Given the description of an element on the screen output the (x, y) to click on. 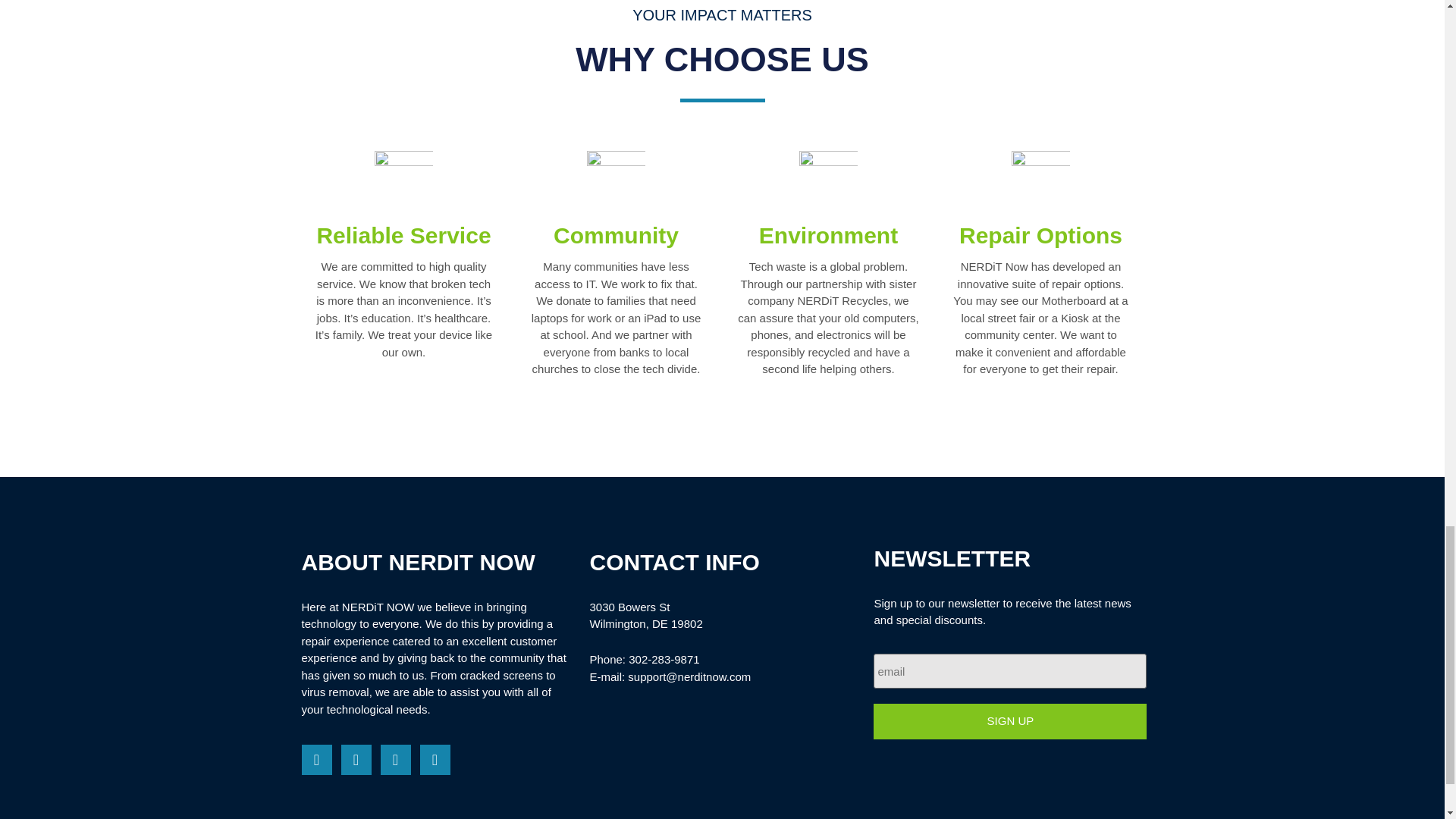
SIGN UP (1010, 721)
CONTACT INFO (721, 565)
YOUR IMPACT MATTERS (722, 14)
NEWSLETTER (1010, 562)
ABOUT NERDIT NOW (434, 565)
SIGN UP (1010, 721)
WHY CHOOSE US (722, 59)
